Given the description of an element on the screen output the (x, y) to click on. 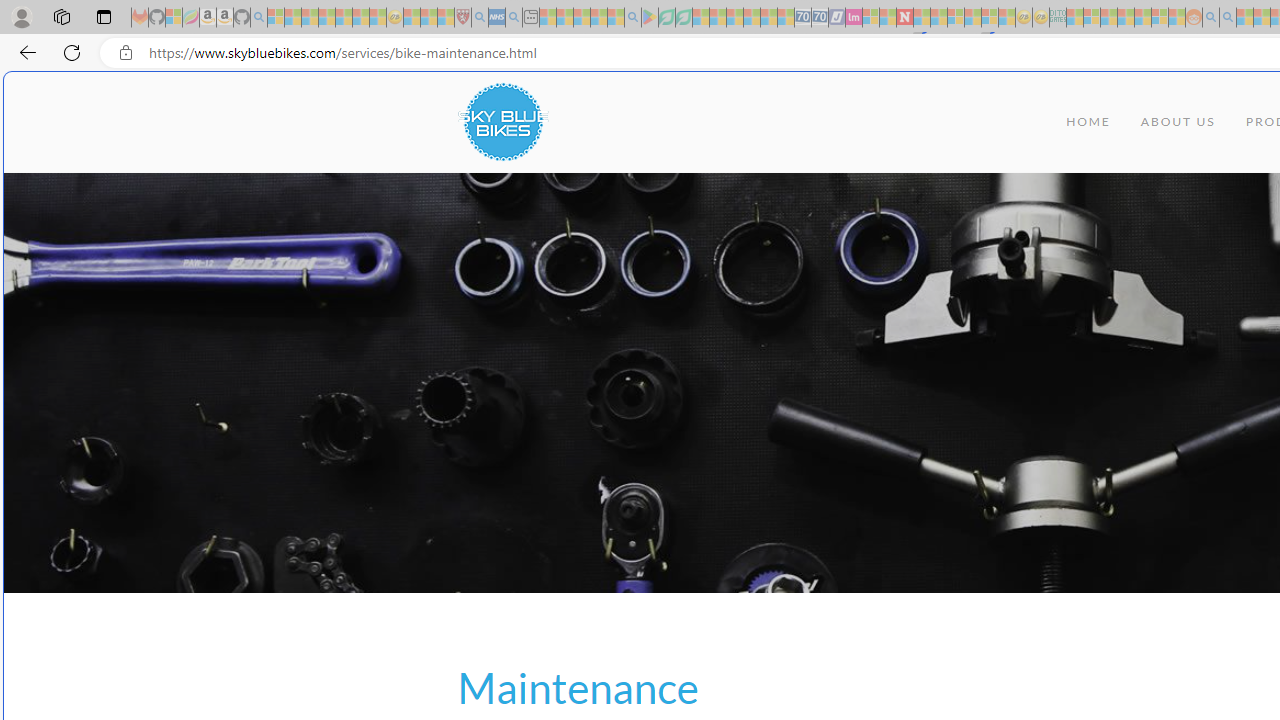
DITOGAMES AG Imprint - Sleeping (1057, 17)
Microsoft-Report a Concern to Bing - Sleeping (173, 17)
google - Search - Sleeping (632, 17)
Kinda Frugal - MSN - Sleeping (1142, 17)
ABOUT US (1178, 122)
Cheap Hotels - Save70.com - Sleeping (819, 17)
Recipes - MSN - Sleeping (411, 17)
Robert H. Shmerling, MD - Harvard Health - Sleeping (462, 17)
